Given the description of an element on the screen output the (x, y) to click on. 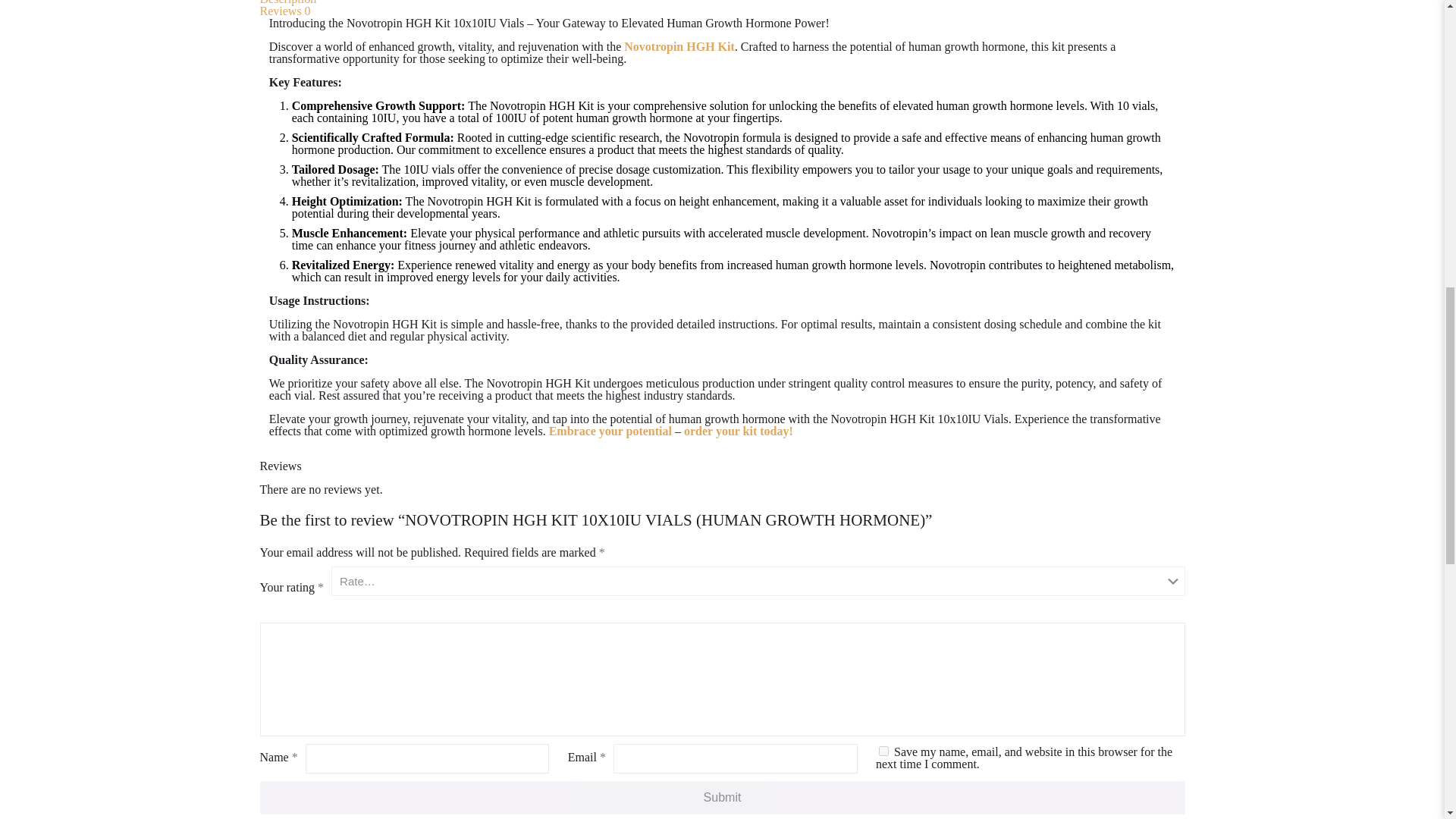
Reviews 0 (284, 10)
Description (287, 2)
yes (883, 750)
Submit (722, 797)
